Given the description of an element on the screen output the (x, y) to click on. 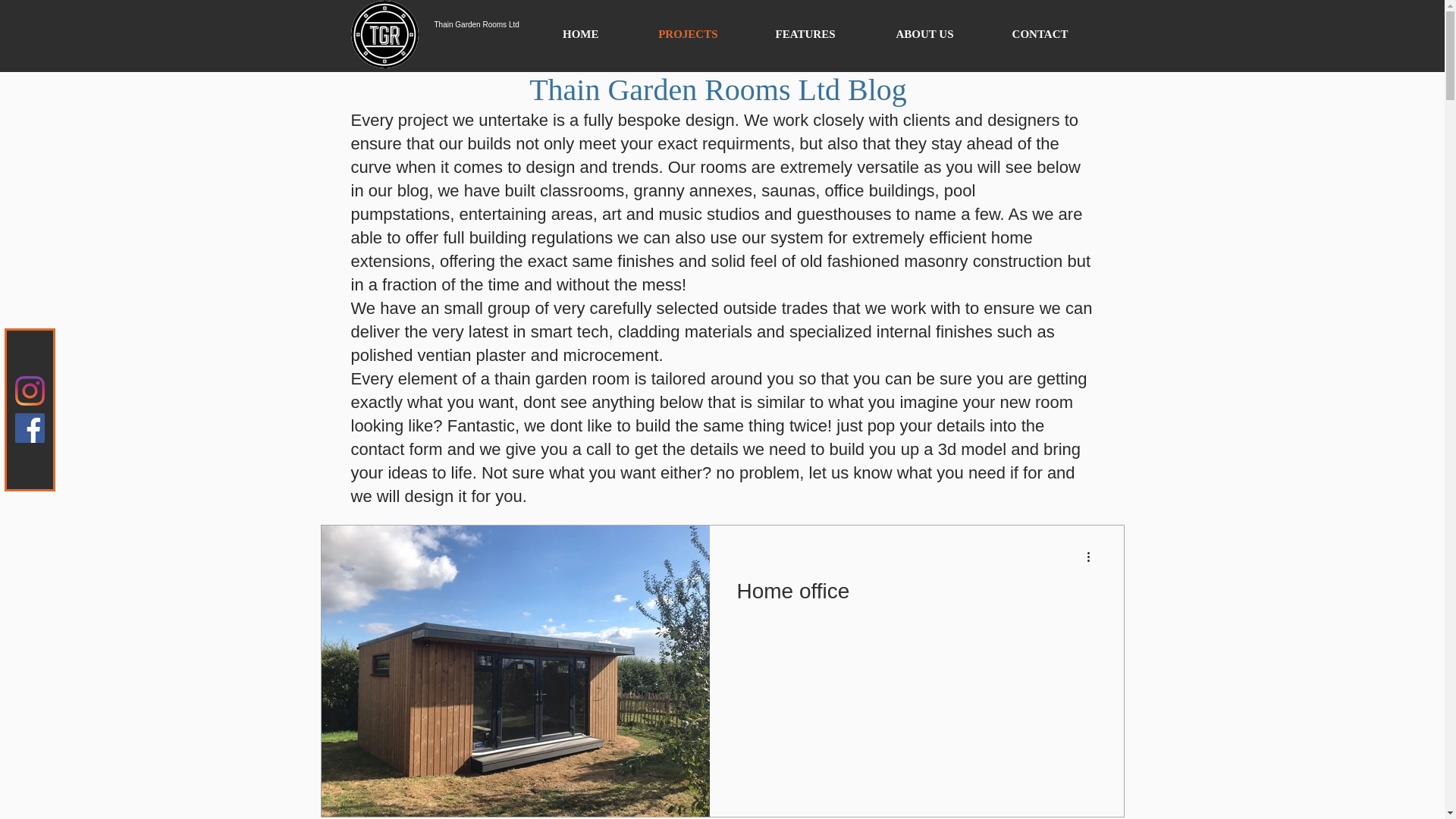
ABOUT US (909, 34)
HOME (565, 34)
FEATURES (791, 34)
CONTACT (1026, 34)
Home office (916, 595)
PROJECTS (673, 34)
